Given the description of an element on the screen output the (x, y) to click on. 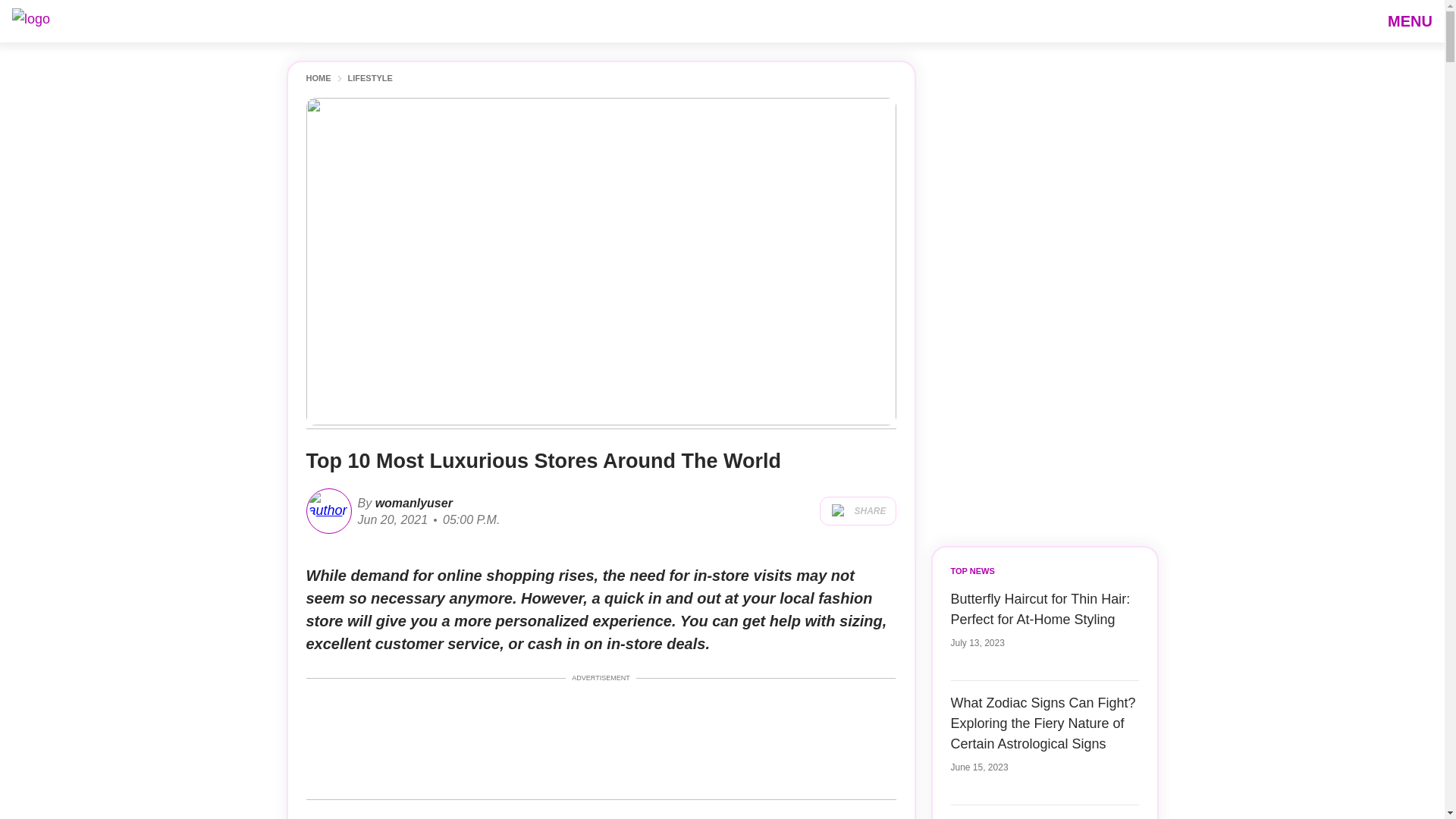
HOME (318, 78)
womanlyuser (411, 502)
LIFESTYLE (369, 78)
SHARE (857, 510)
MENU (1409, 20)
